Given the description of an element on the screen output the (x, y) to click on. 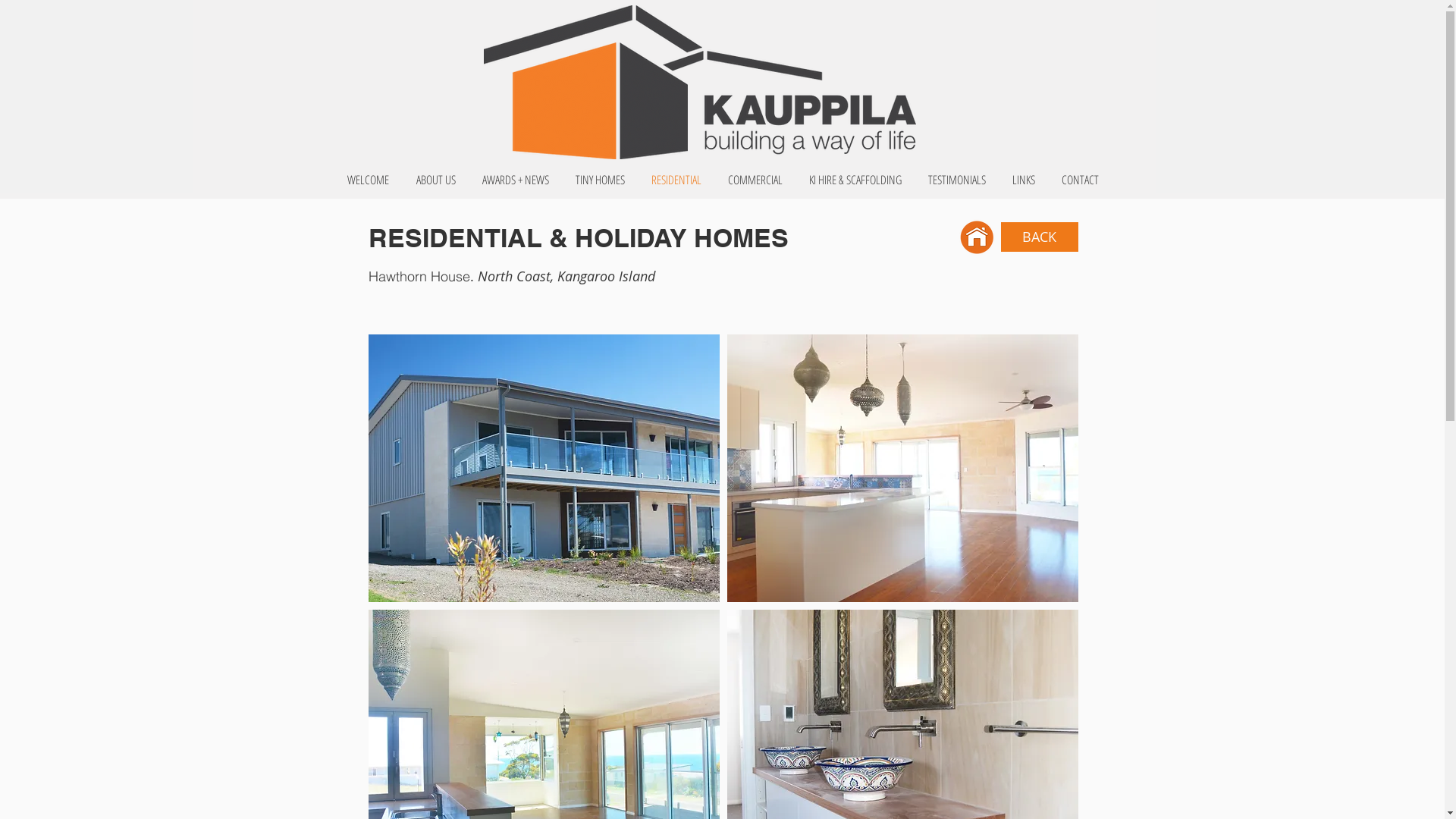
COMMERCIAL Element type: text (754, 179)
ABOUT US Element type: text (434, 179)
KI HIRE & SCAFFOLDING Element type: text (855, 179)
WELCOME Element type: text (367, 179)
BACK Element type: text (1039, 236)
AWARDS + NEWS Element type: text (514, 179)
RESIDENTIAL Element type: text (676, 179)
Kauppila Building a Way of Life logo Element type: hover (699, 82)
CONTACT Element type: text (1079, 179)
LINKS Element type: text (1023, 179)
TESTIMONIALS Element type: text (956, 179)
TINY HOMES Element type: text (600, 179)
